Given the description of an element on the screen output the (x, y) to click on. 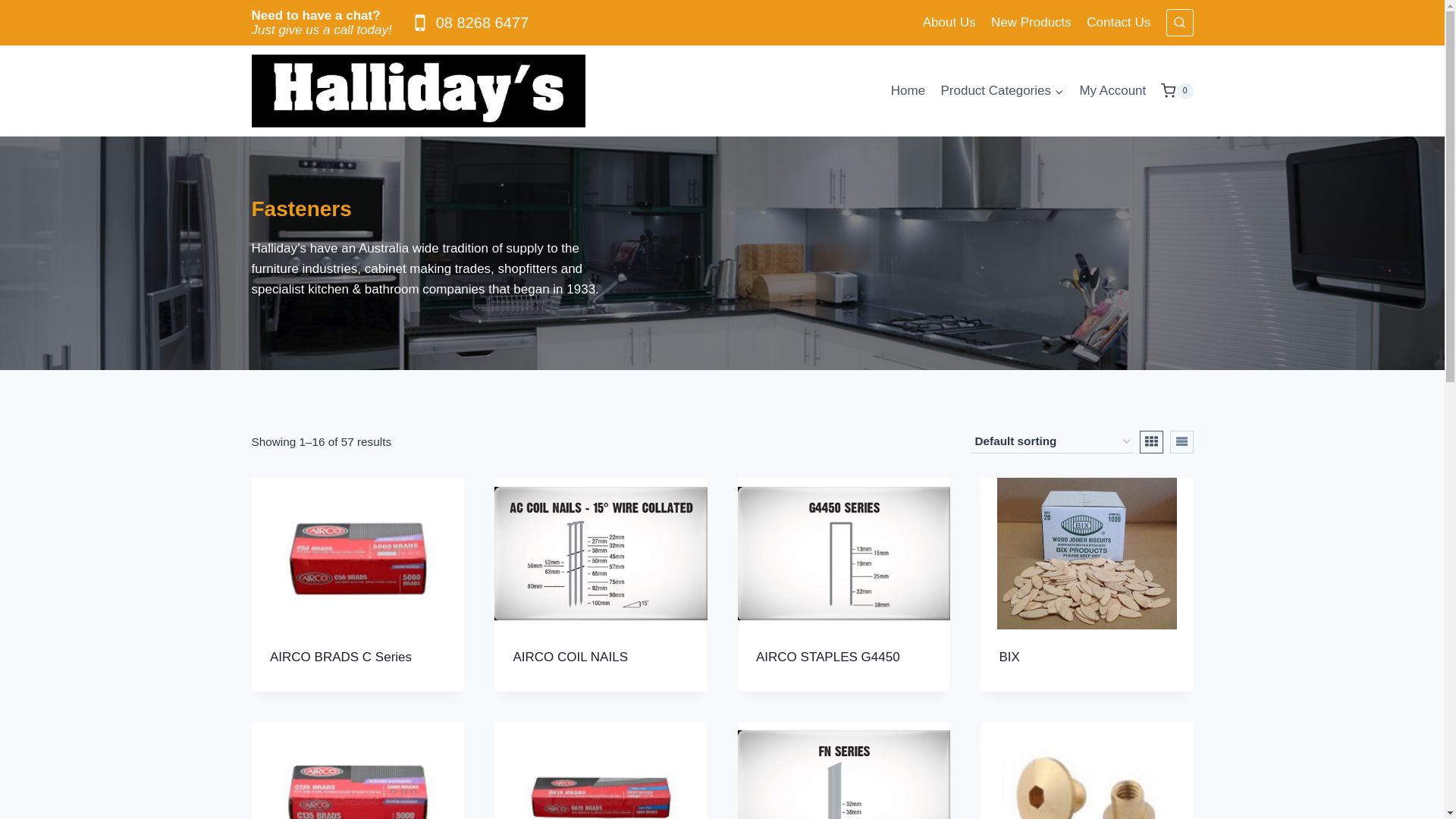
AIRCO BRADS C Series Element type: text (340, 656)
About Us Element type: text (949, 22)
New Products Element type: text (1031, 22)
BIX Element type: text (1009, 656)
AIRCO COIL NAILS Element type: text (569, 656)
0 Element type: text (1176, 90)
AIRCO STAPLES G4450 Element type: text (828, 656)
List View Element type: hover (1180, 441)
08 8268 6477 Element type: text (468, 22)
Contact Us Element type: text (1118, 22)
My Account Element type: text (1112, 90)
Home Element type: text (908, 90)
Grid View Element type: hover (1151, 441)
Product Categories Element type: text (1001, 90)
